Given the description of an element on the screen output the (x, y) to click on. 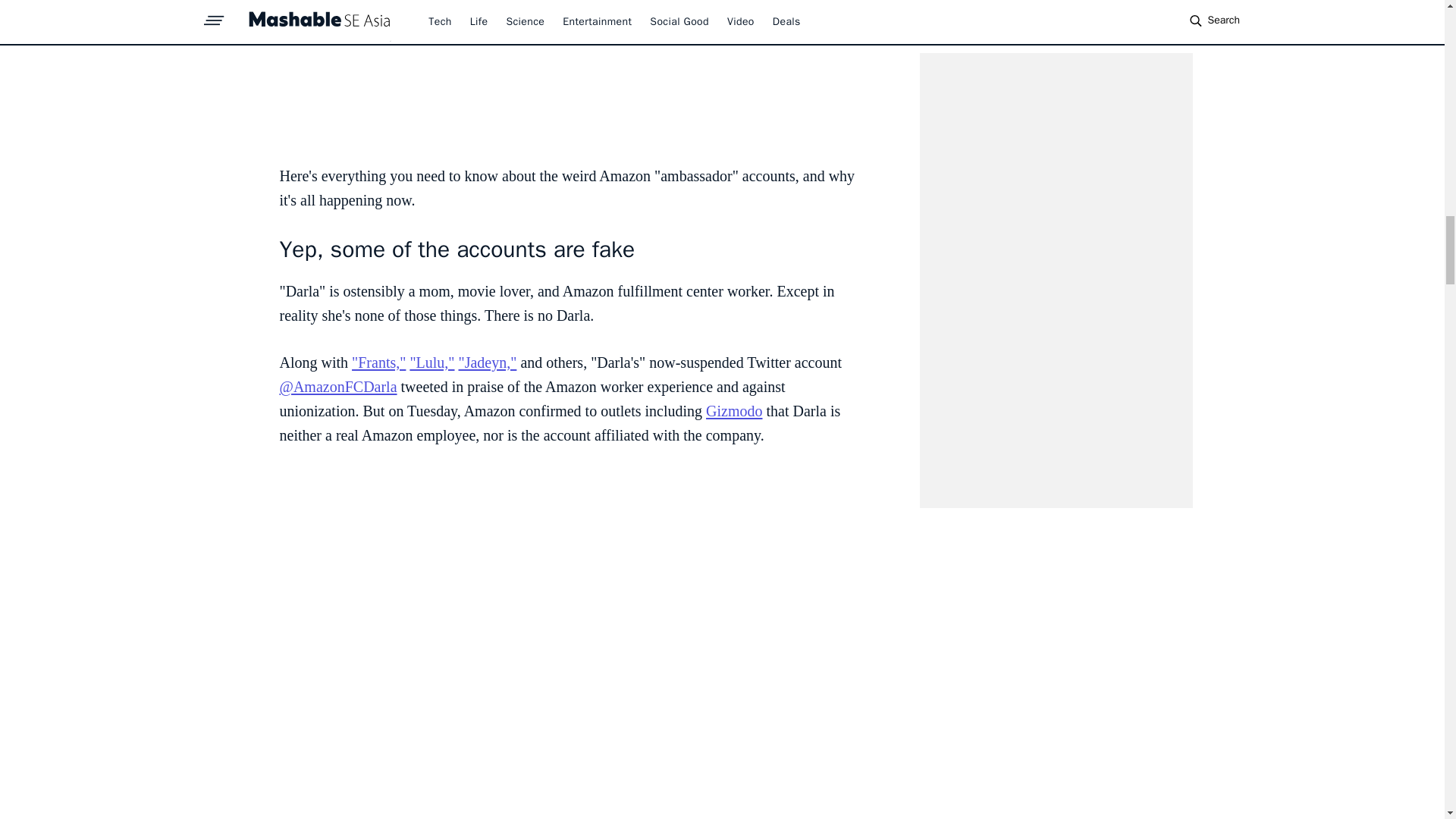
Gizmodo (733, 410)
"Frants," (379, 362)
"Jadeyn," (487, 362)
"Lulu," (431, 362)
Twitter Tweet (570, 74)
